Given the description of an element on the screen output the (x, y) to click on. 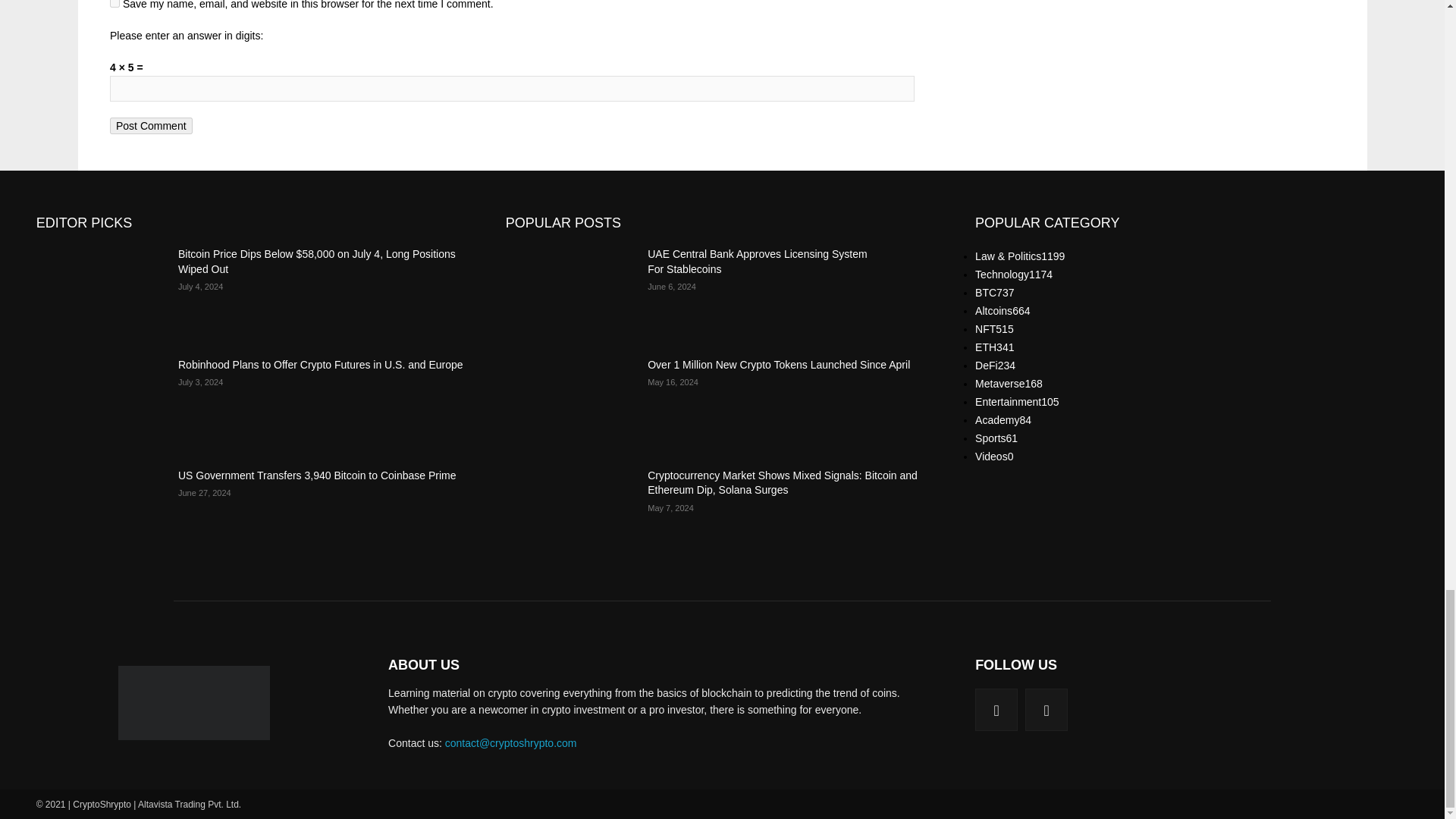
yes (114, 3)
Post Comment (151, 125)
